Given the description of an element on the screen output the (x, y) to click on. 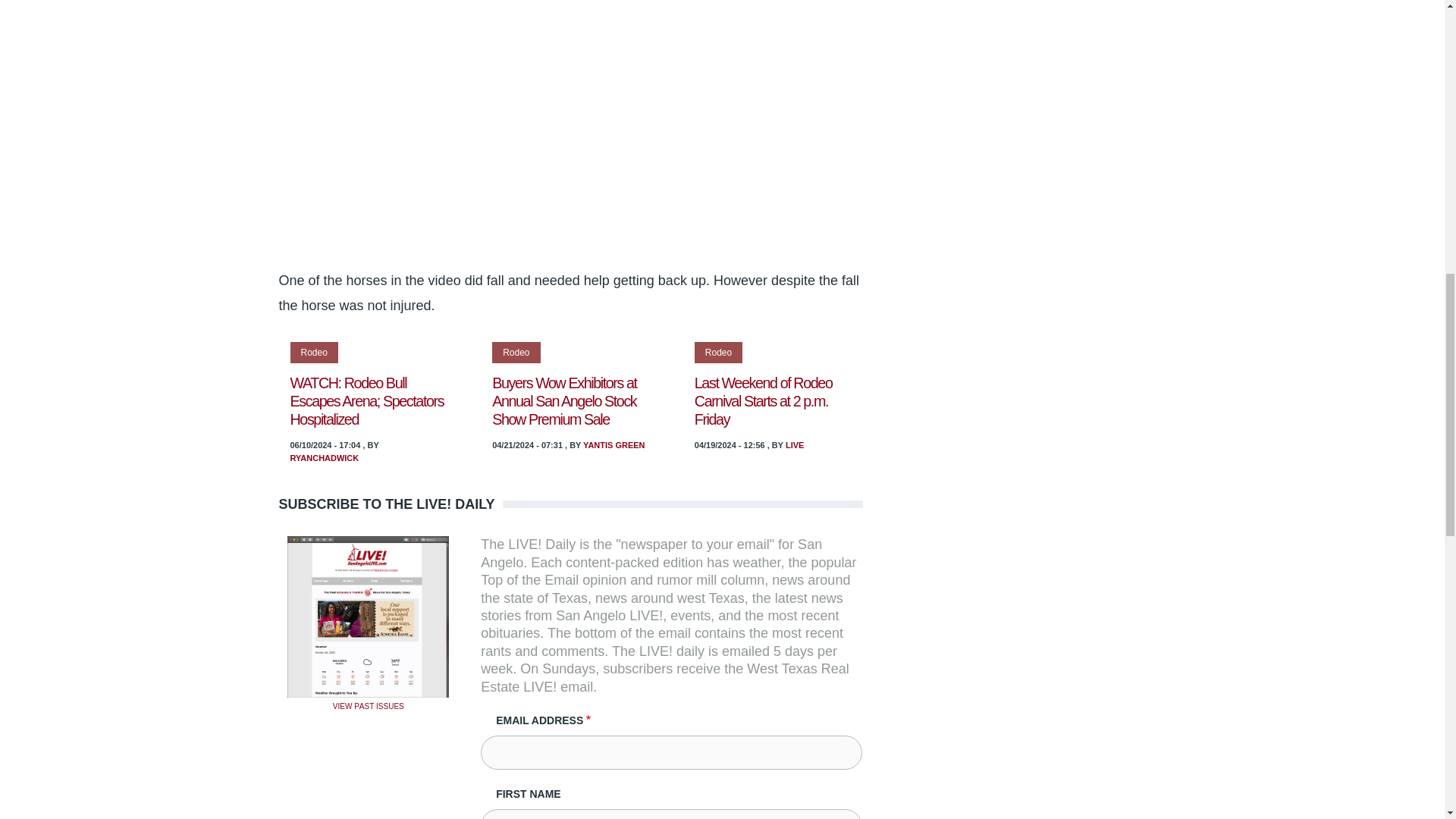
View user profile. (323, 457)
View Past Issues (368, 705)
View user profile. (614, 444)
View user profile. (794, 444)
View Past Issues (367, 616)
